Given the description of an element on the screen output the (x, y) to click on. 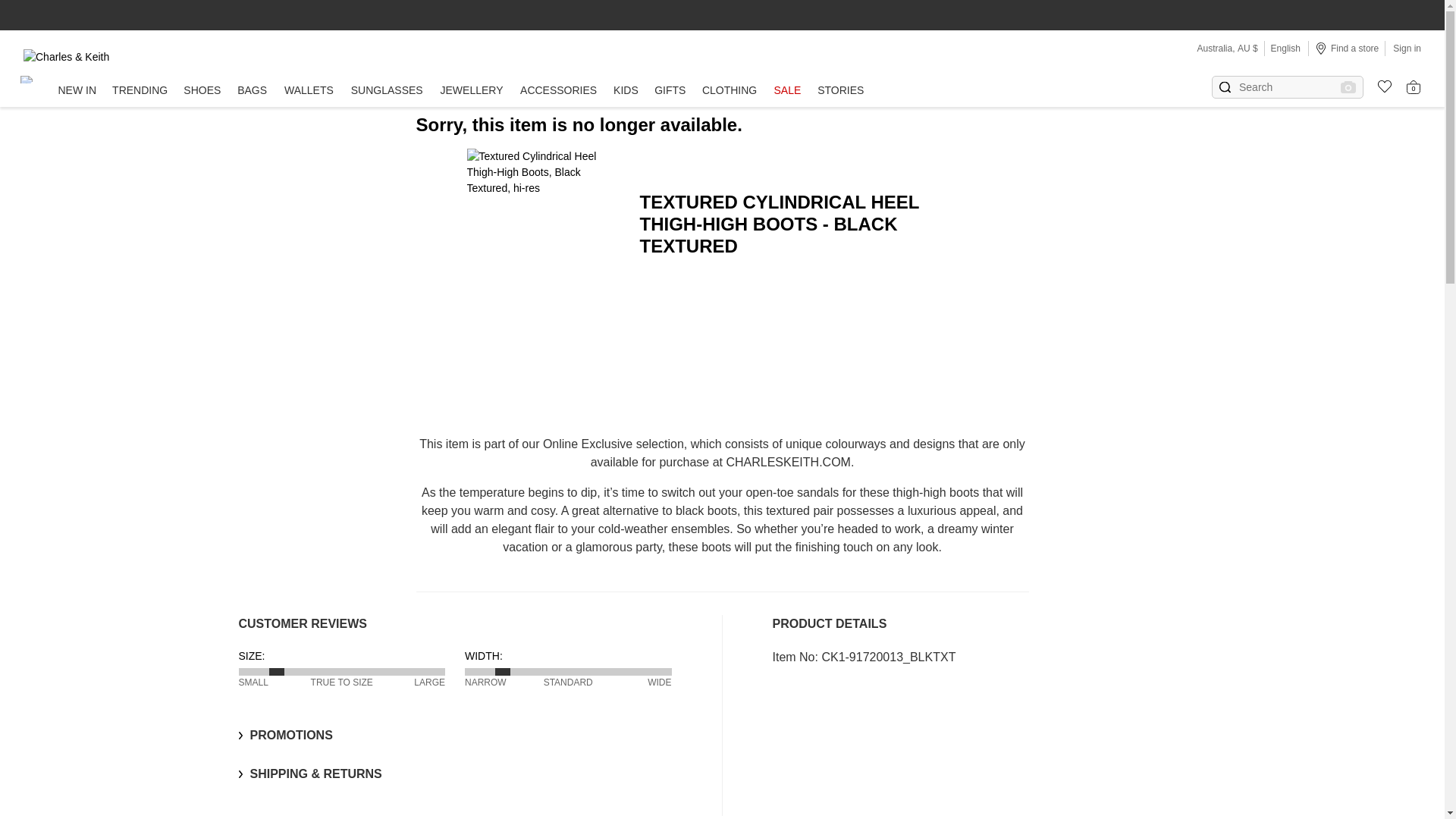
SHOES (202, 91)
Sign in (1407, 48)
TRENDING (140, 91)
wishlist (1378, 84)
JEWELLERY (471, 91)
SALE (787, 91)
STORIES (840, 91)
NEW IN (76, 91)
WALLETS (308, 91)
Find a store (1346, 48)
GIFTS (670, 91)
ACCESSORIES (558, 91)
BAGS (252, 91)
KIDS (625, 91)
SUNGLASSES (386, 91)
